Given the description of an element on the screen output the (x, y) to click on. 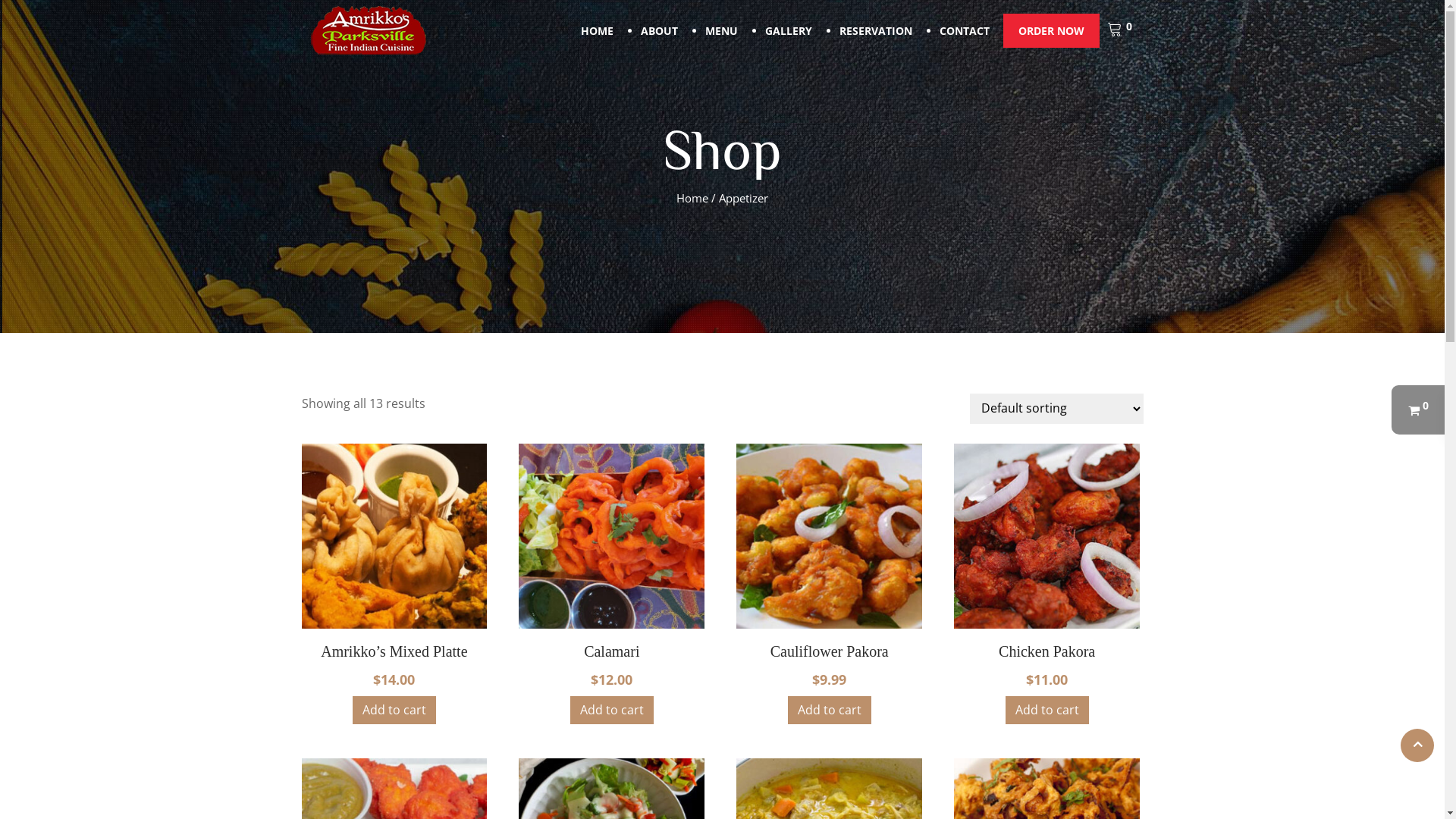
Add to cart Element type: text (1046, 709)
Add to cart Element type: text (394, 709)
HOME Element type: text (596, 30)
Chicken Pakora
$11.00 Element type: text (1046, 580)
Calamari
$12.00 Element type: text (611, 580)
ABOUT Element type: text (658, 30)
Cauliflower Pakora
$9.99 Element type: text (829, 580)
ORDER NOW Element type: text (1050, 30)
MENU Element type: text (721, 30)
RESERVATION Element type: text (874, 30)
Add to cart Element type: text (611, 709)
0 Element type: text (1119, 29)
0 Element type: text (1417, 409)
CONTACT Element type: text (963, 30)
Home Element type: text (692, 197)
Add to cart Element type: text (829, 709)
GALLERY Element type: text (787, 30)
